Given the description of an element on the screen output the (x, y) to click on. 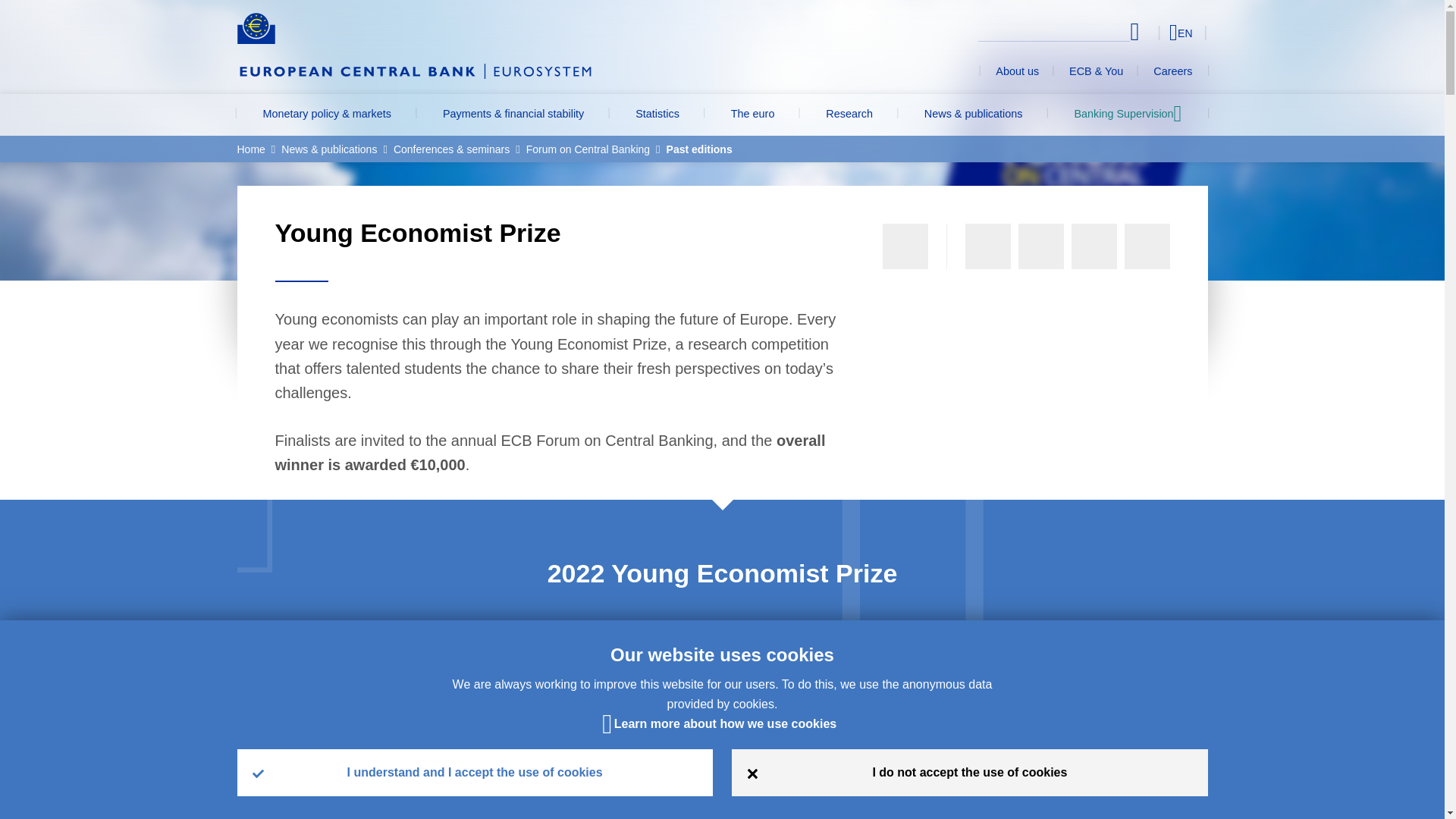
Select language (1153, 32)
